Given the description of an element on the screen output the (x, y) to click on. 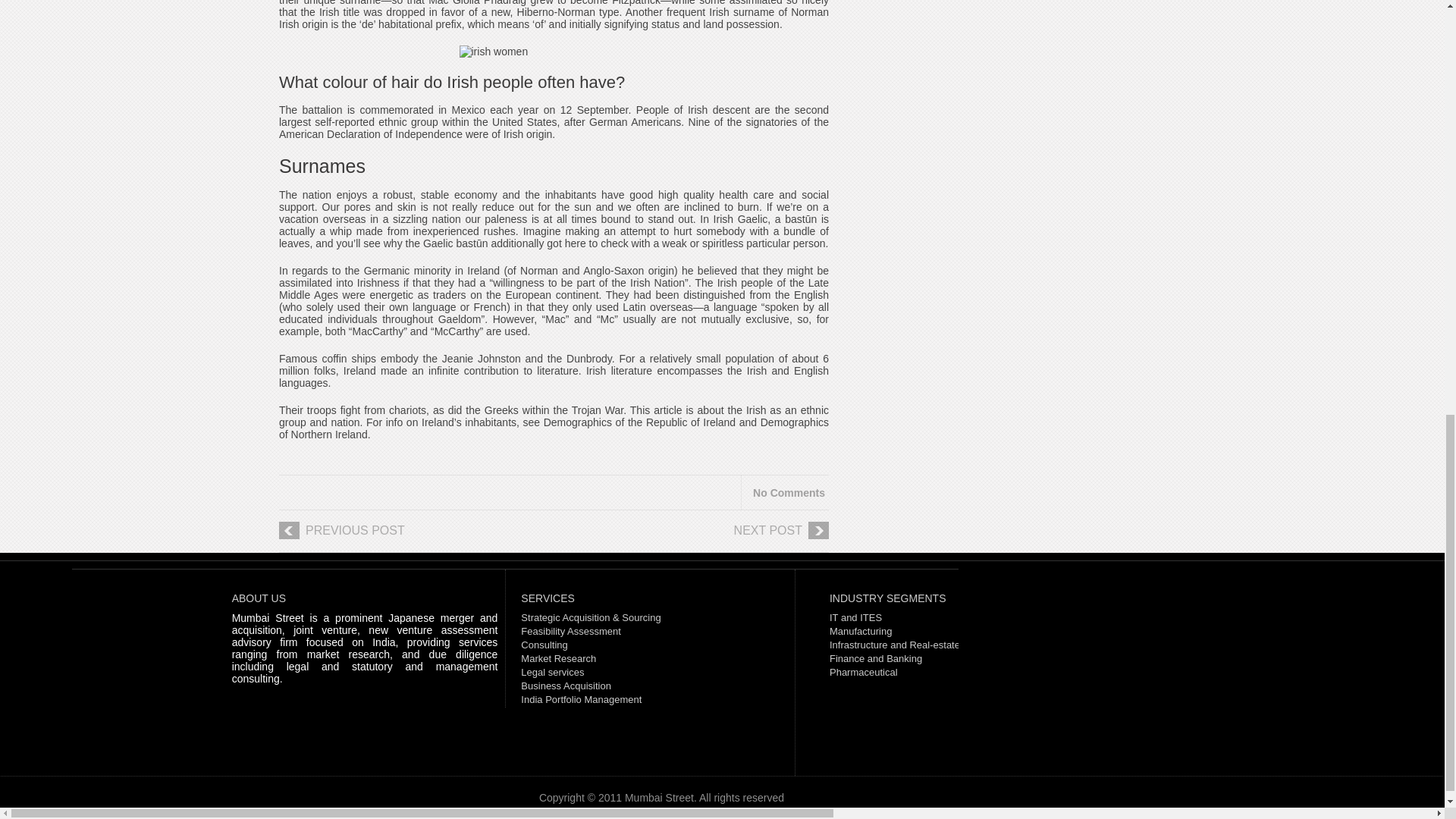
Market Research (558, 658)
Consulting (544, 644)
PREVIOUS POST (402, 536)
No Comments (788, 492)
NEXT POST (705, 536)
Feasibility Assessment (571, 631)
